Given the description of an element on the screen output the (x, y) to click on. 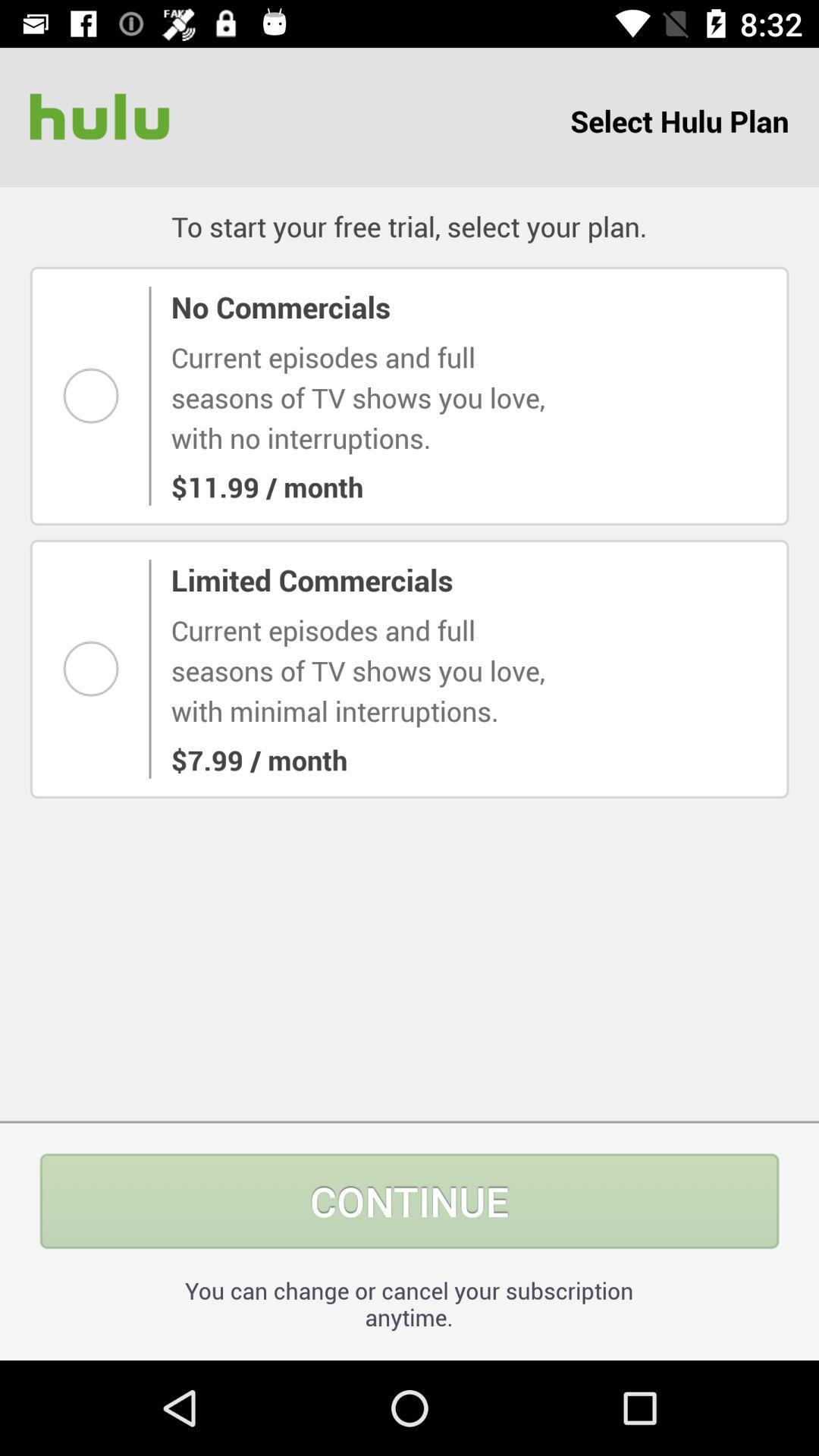
select this option (96, 395)
